Given the description of an element on the screen output the (x, y) to click on. 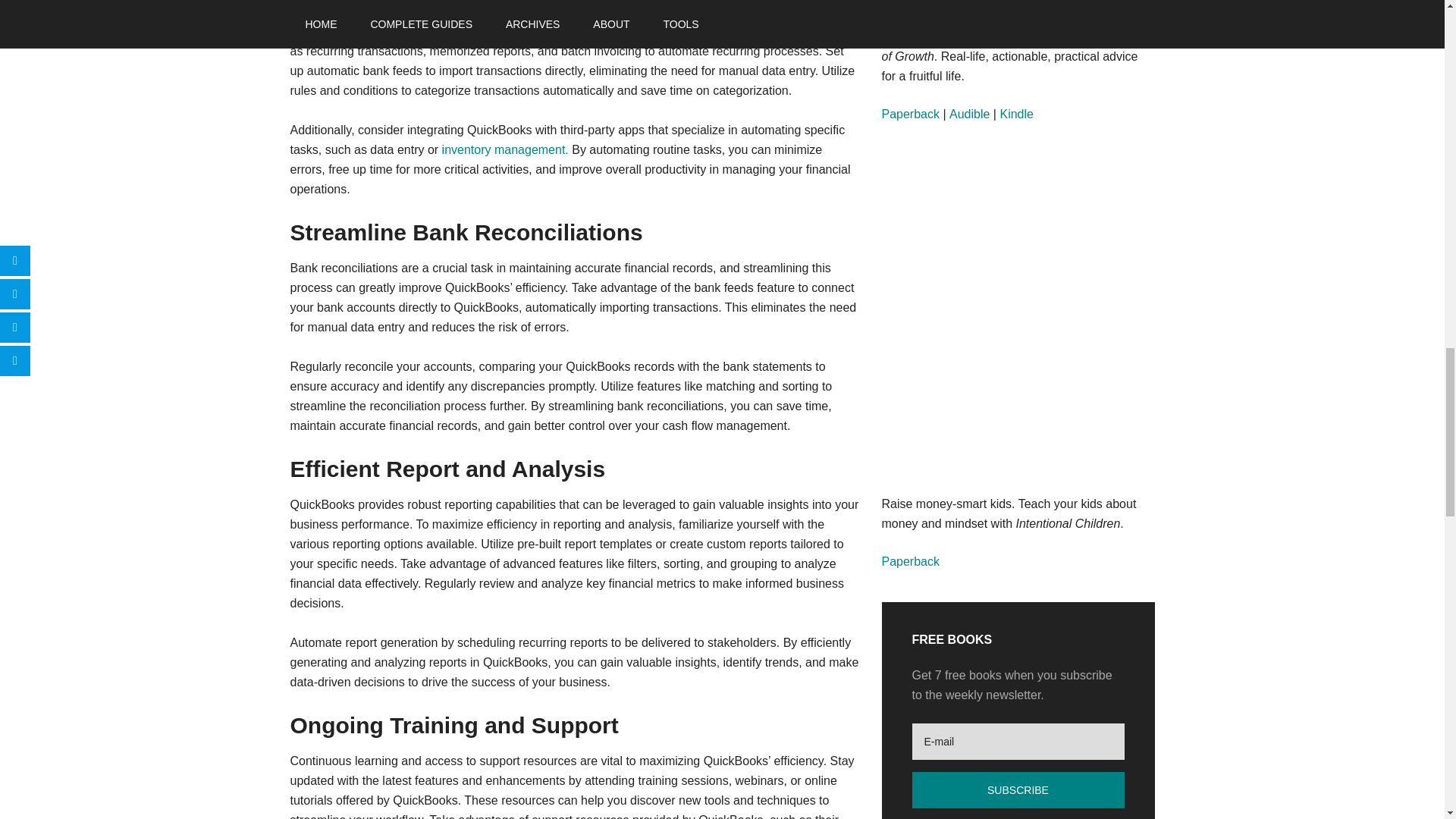
Subscribe (1017, 790)
